Given the description of an element on the screen output the (x, y) to click on. 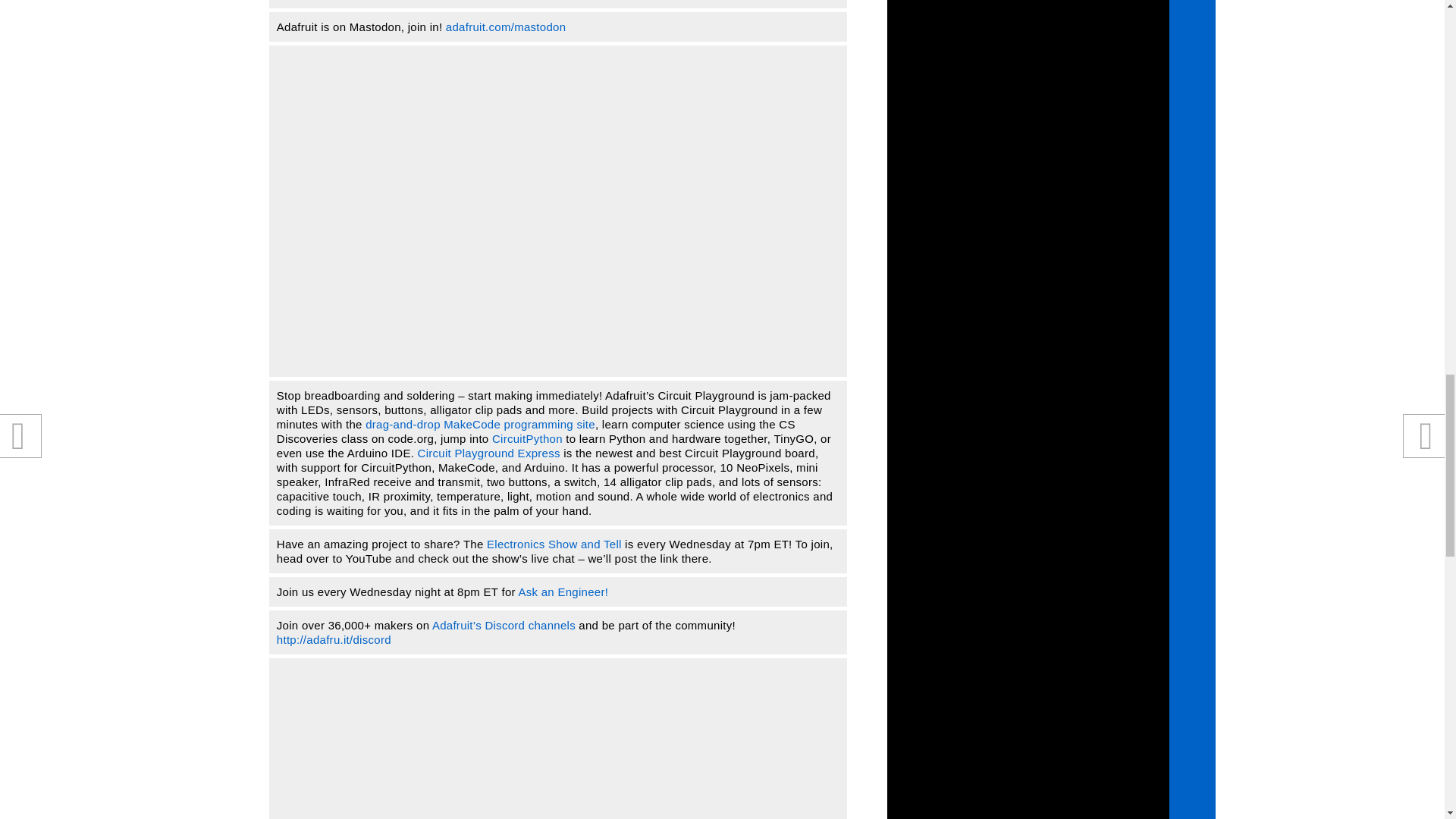
ASK AN ENGINEER (563, 591)
